Given the description of an element on the screen output the (x, y) to click on. 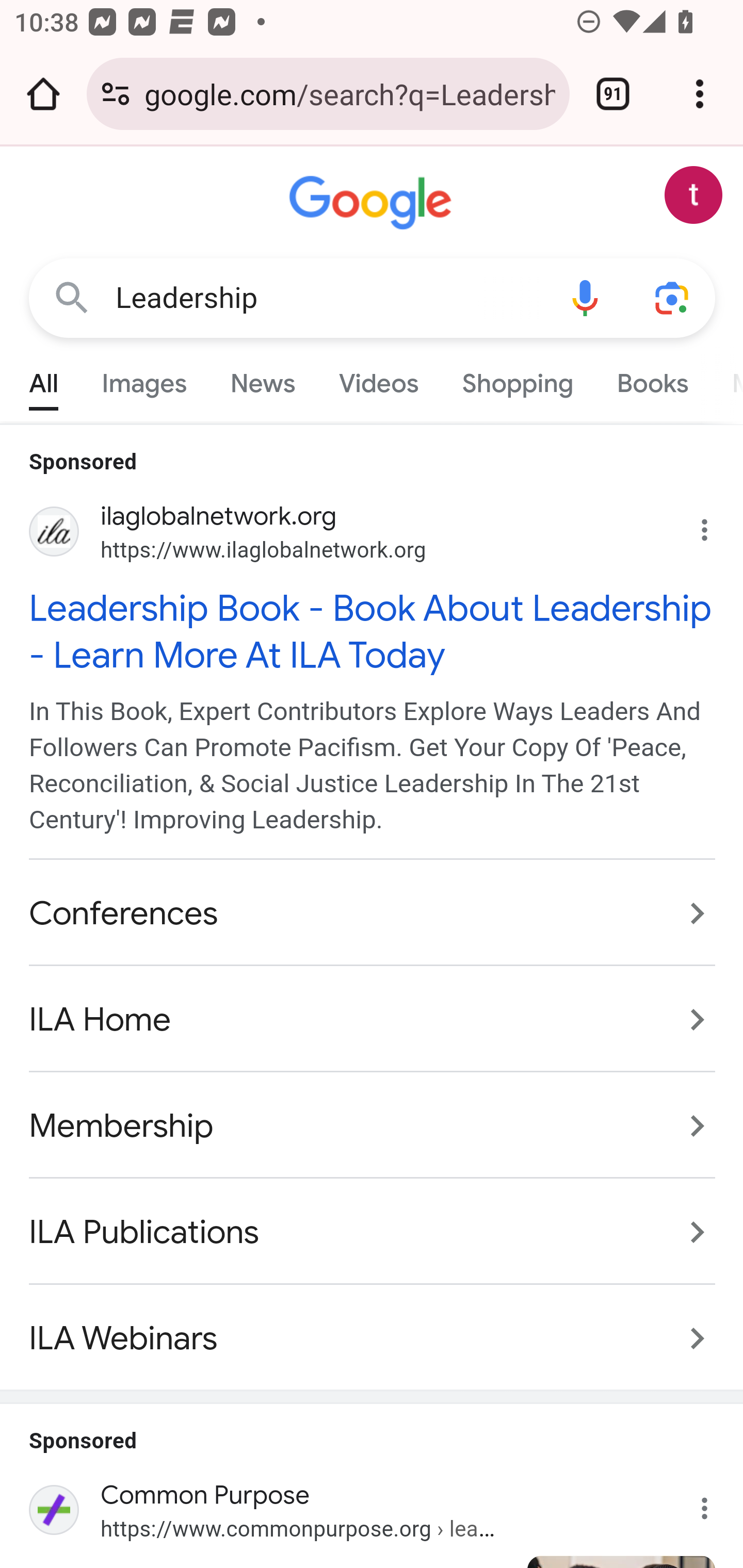
Open the home page (43, 93)
Connection is secure (115, 93)
Switch or close tabs (612, 93)
Customize and control Google Chrome (699, 93)
Google (372, 203)
Google Search (71, 296)
Search using your camera or photos (672, 296)
Leadership (328, 297)
Images (144, 378)
News (262, 378)
Videos (378, 378)
Shopping (516, 378)
Books (652, 378)
Why this ad? (714, 525)
Conferences (372, 913)
ILA Home (372, 1020)
Membership (372, 1126)
ILA Publications (372, 1232)
ILA Webinars (372, 1327)
Why this ad? (714, 1504)
